Given the description of an element on the screen output the (x, y) to click on. 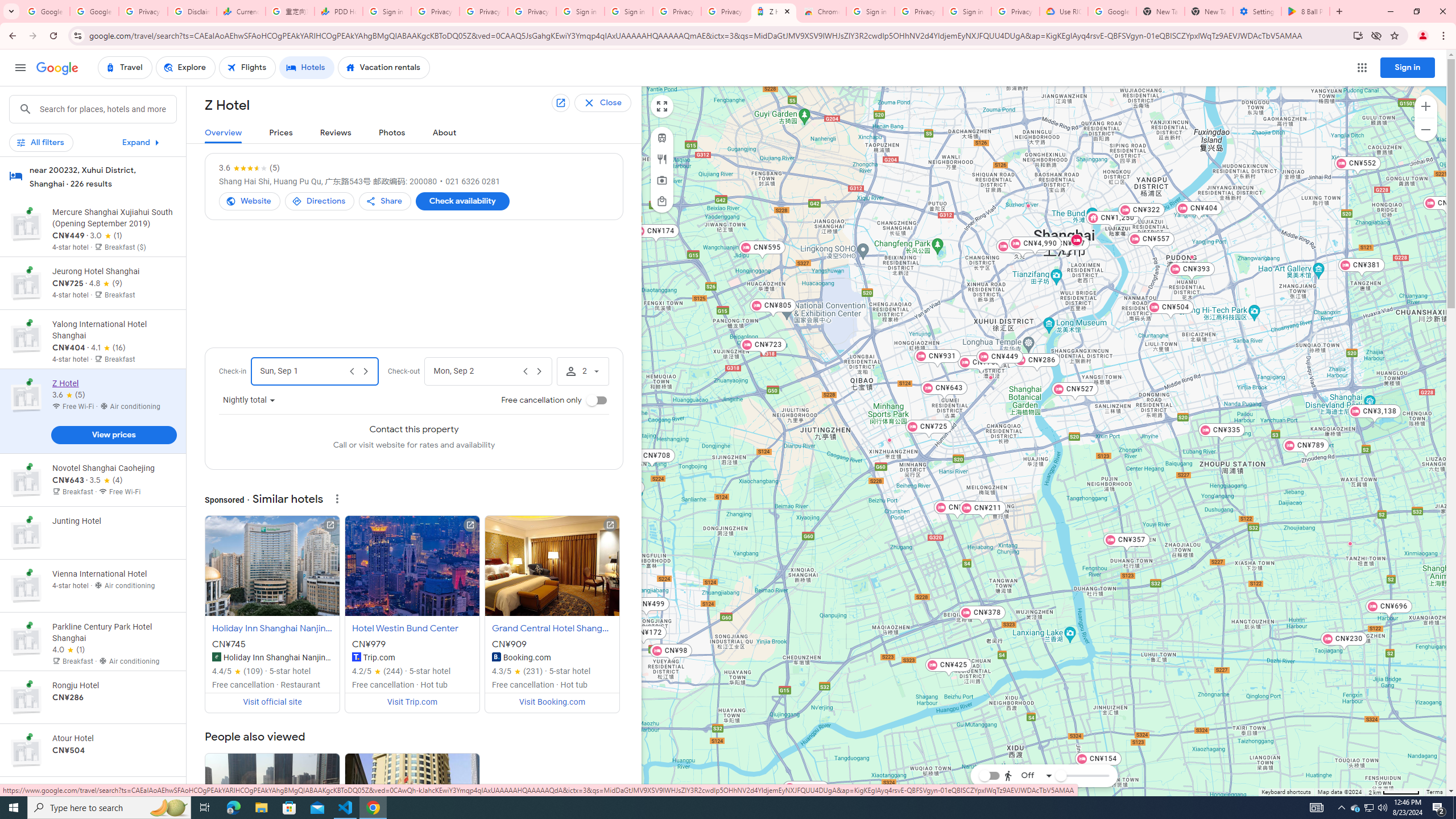
Back to list of all results (612, 103)
View prices for Junting Hotel (113, 572)
Number of travelers. Current number of travelers is 2. (582, 371)
Vienna International Hotel (1027, 205)
Check-in (302, 370)
Price displayedNightly total (248, 400)
Google Workspace Admin Community (45, 11)
